Given the description of an element on the screen output the (x, y) to click on. 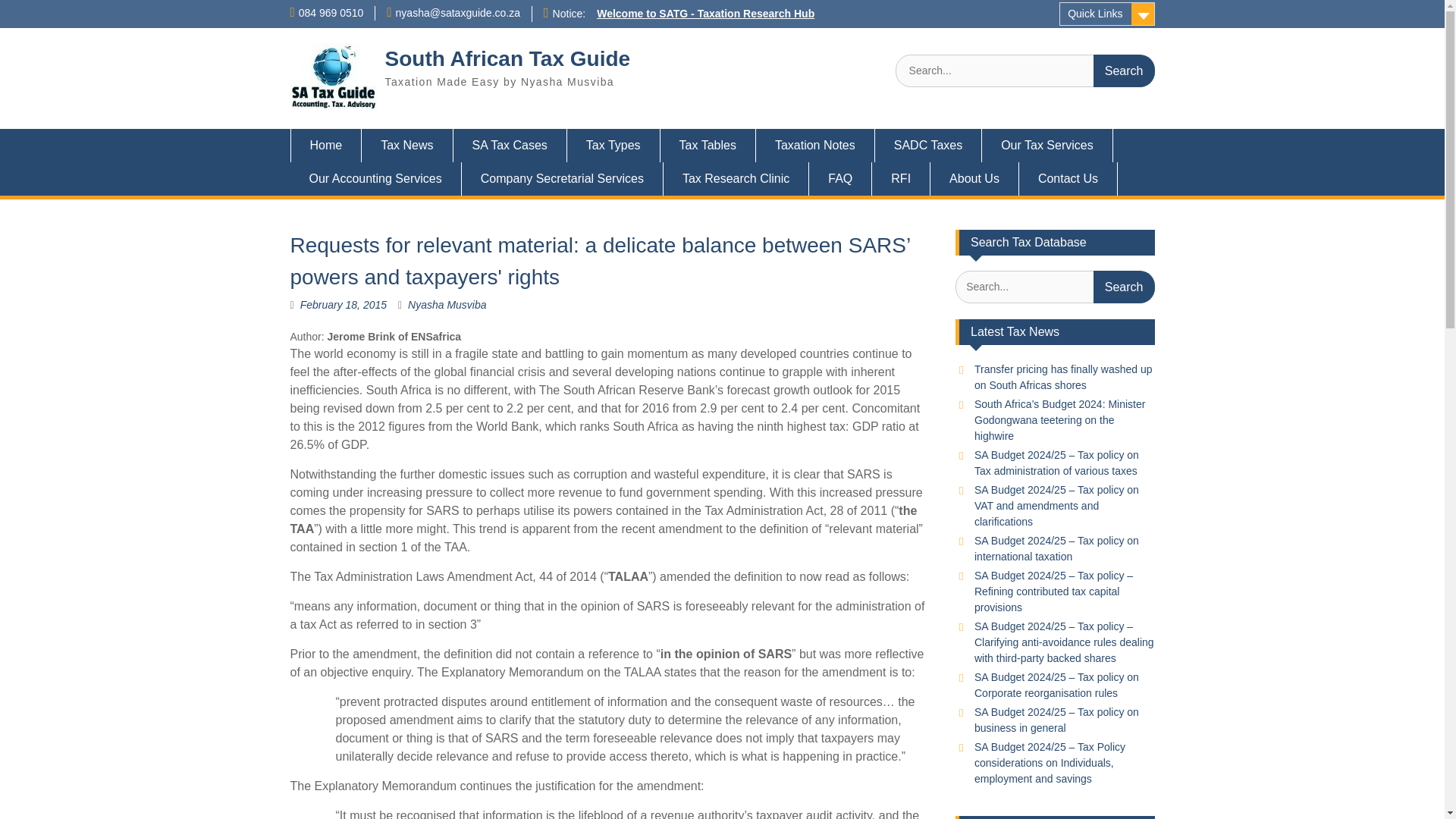
Search (1123, 287)
Our Tax Services (1047, 145)
Search (1123, 70)
South African Tax Guide (507, 58)
Company Secretarial Services (562, 178)
Tax Types (614, 145)
Tax Tables (708, 145)
Nyasha Musviba (446, 304)
SA Tax Cases (509, 145)
Search (1123, 70)
Welcome to SA Tax Guide (325, 145)
Taxation Notes (815, 145)
Search (1123, 287)
Search for: (1024, 70)
About Us (974, 178)
